Given the description of an element on the screen output the (x, y) to click on. 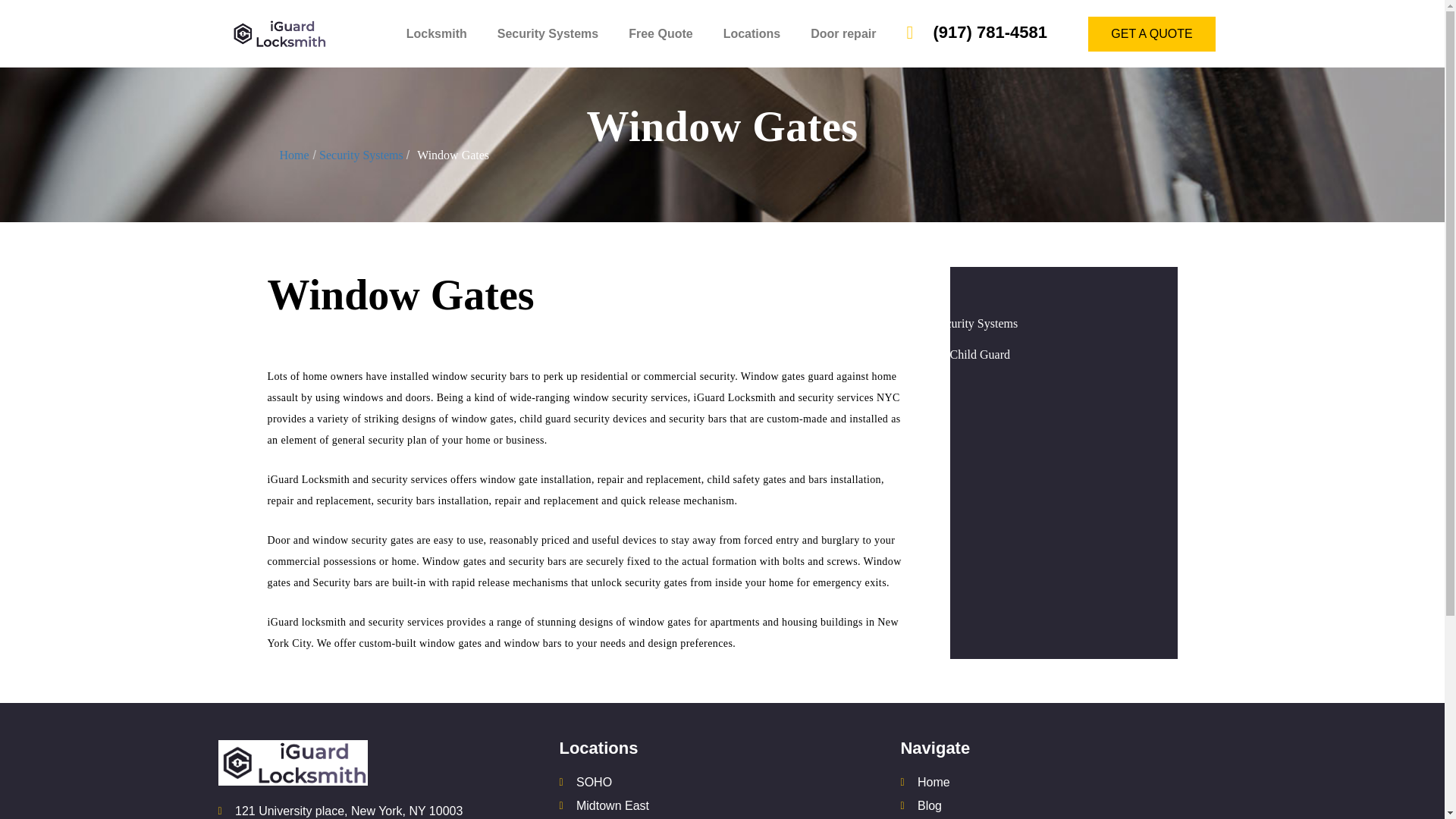
Locksmith (436, 33)
Window Gates (452, 154)
Security Systems (360, 154)
